Given the description of an element on the screen output the (x, y) to click on. 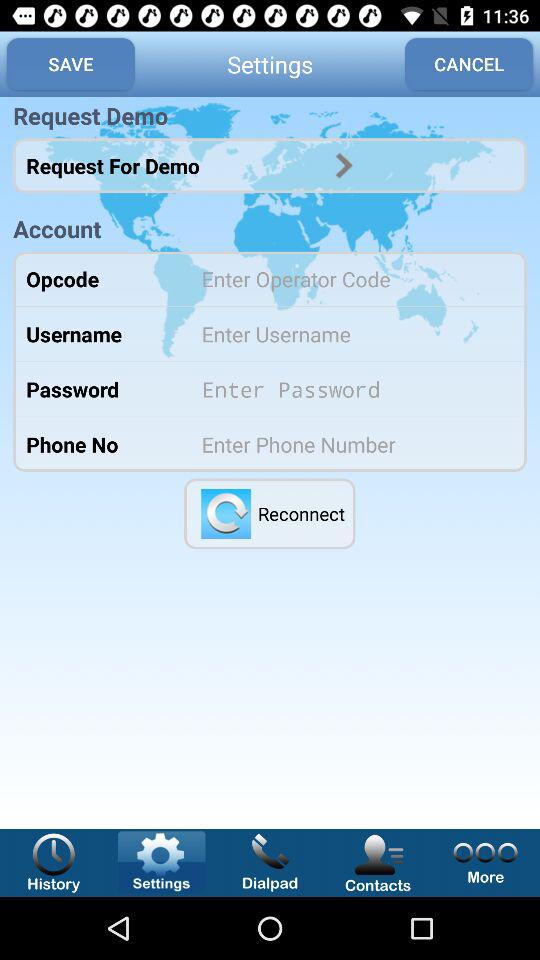
number icon (350, 444)
